Given the description of an element on the screen output the (x, y) to click on. 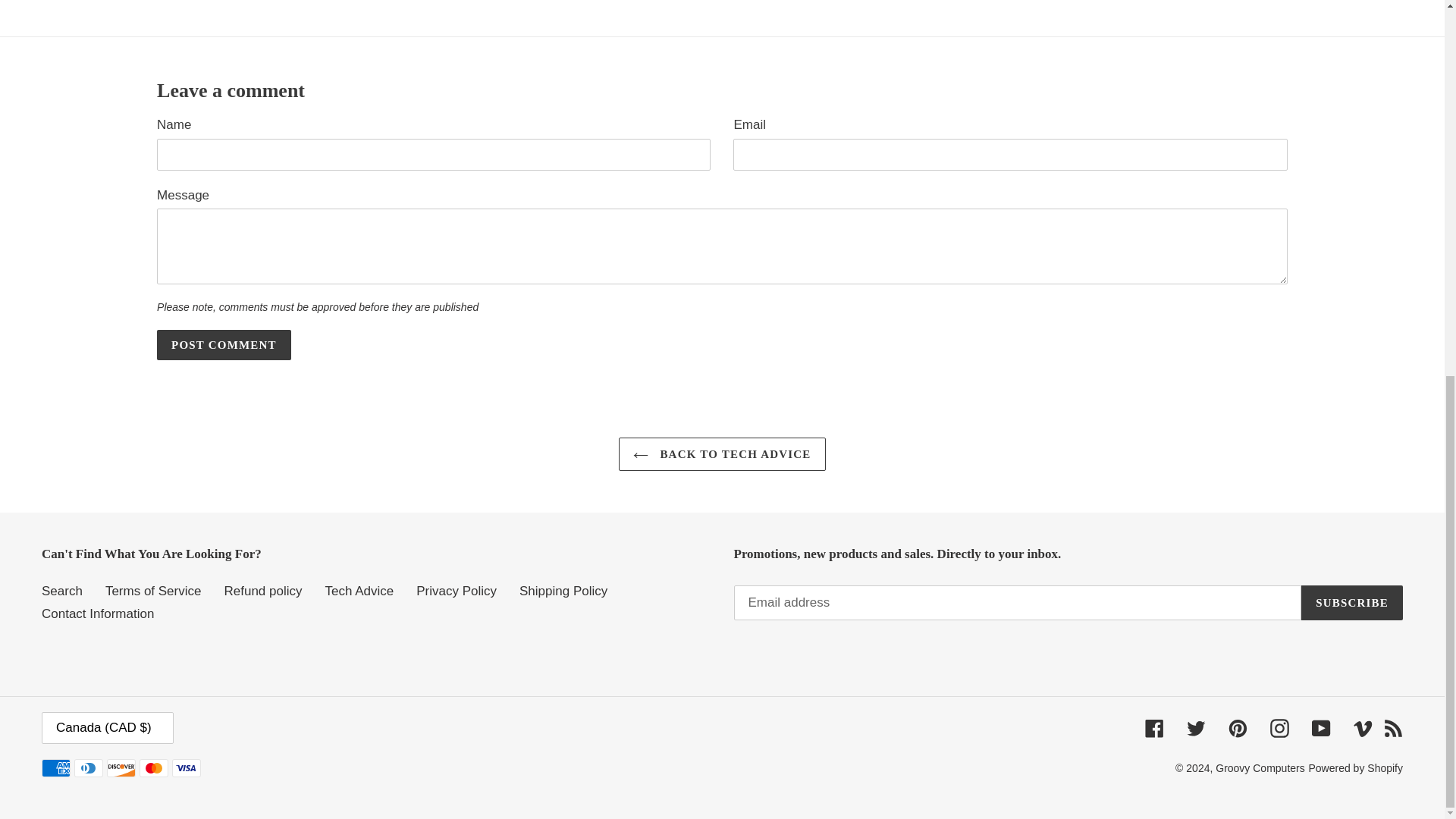
Refund policy (262, 590)
Post comment (224, 345)
BACK TO TECH ADVICE (721, 454)
Search (62, 590)
Post comment (224, 345)
Terms of Service (153, 590)
Tech Advice (358, 590)
